Given the description of an element on the screen output the (x, y) to click on. 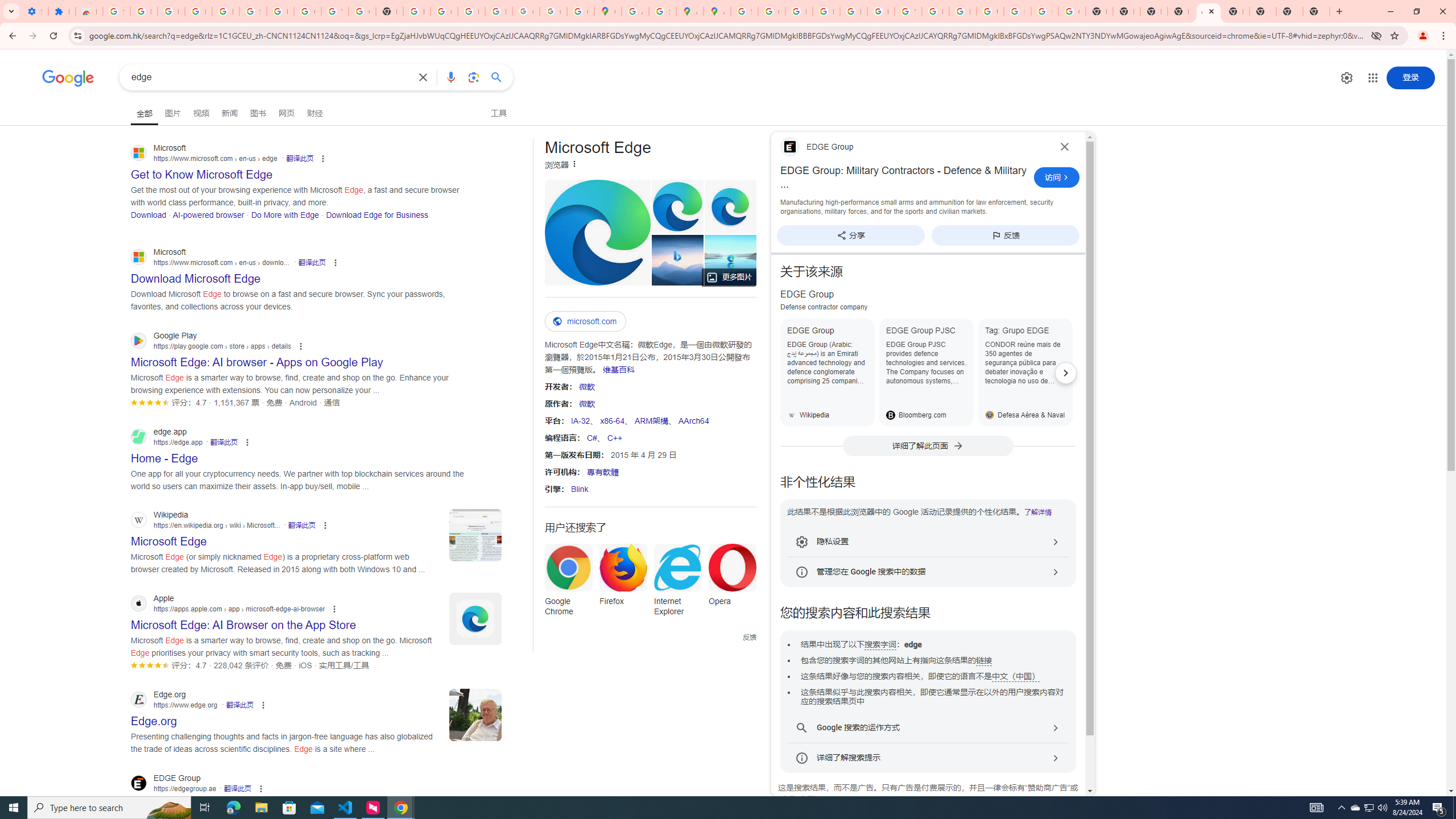
Sign in - Google Accounts (116, 11)
Tag: Grupo EDGE (1025, 372)
